Given the description of an element on the screen output the (x, y) to click on. 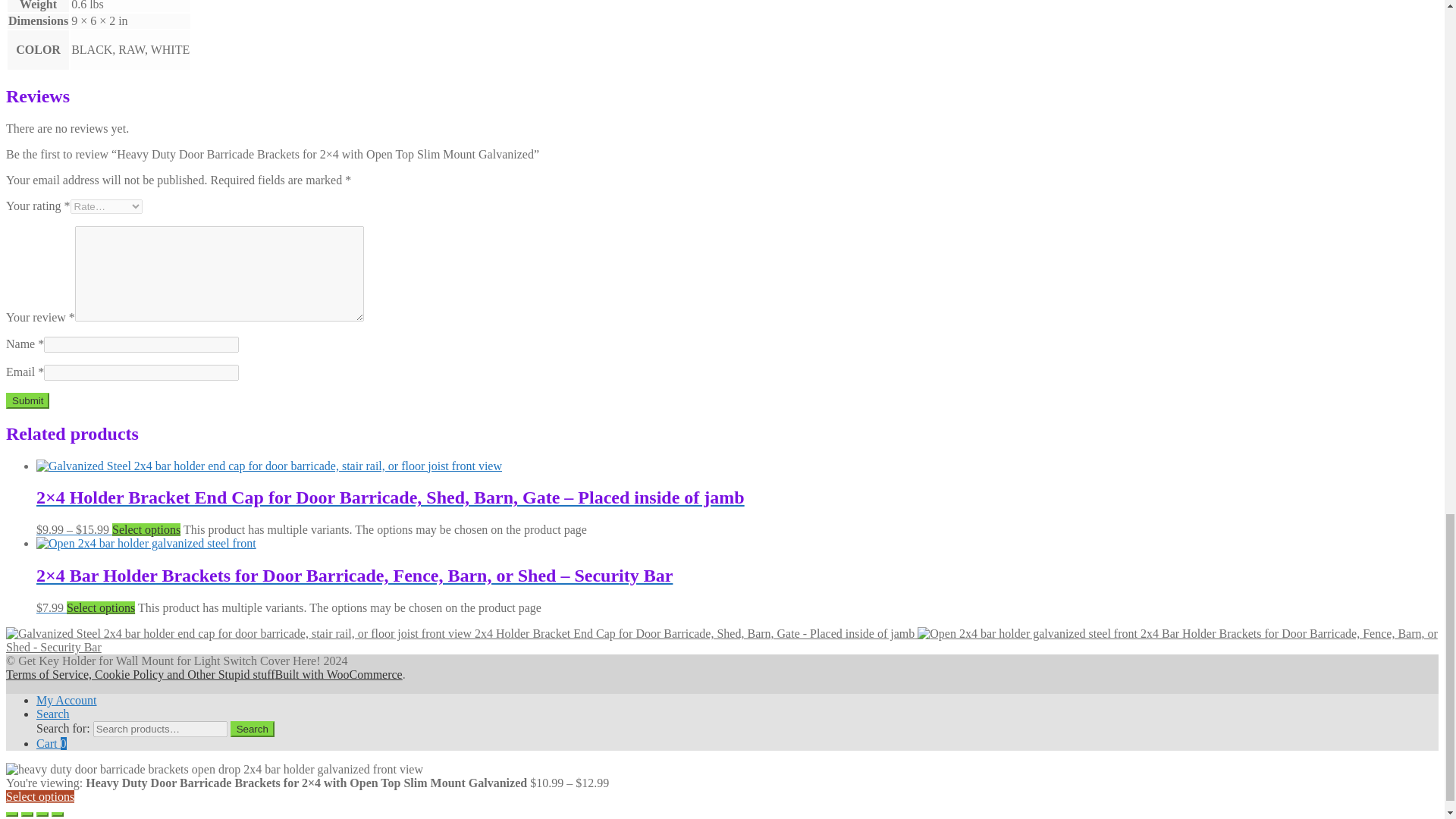
Submit (27, 400)
WooCommerce - The Best eCommerce Platform for WordPress (339, 674)
